Given the description of an element on the screen output the (x, y) to click on. 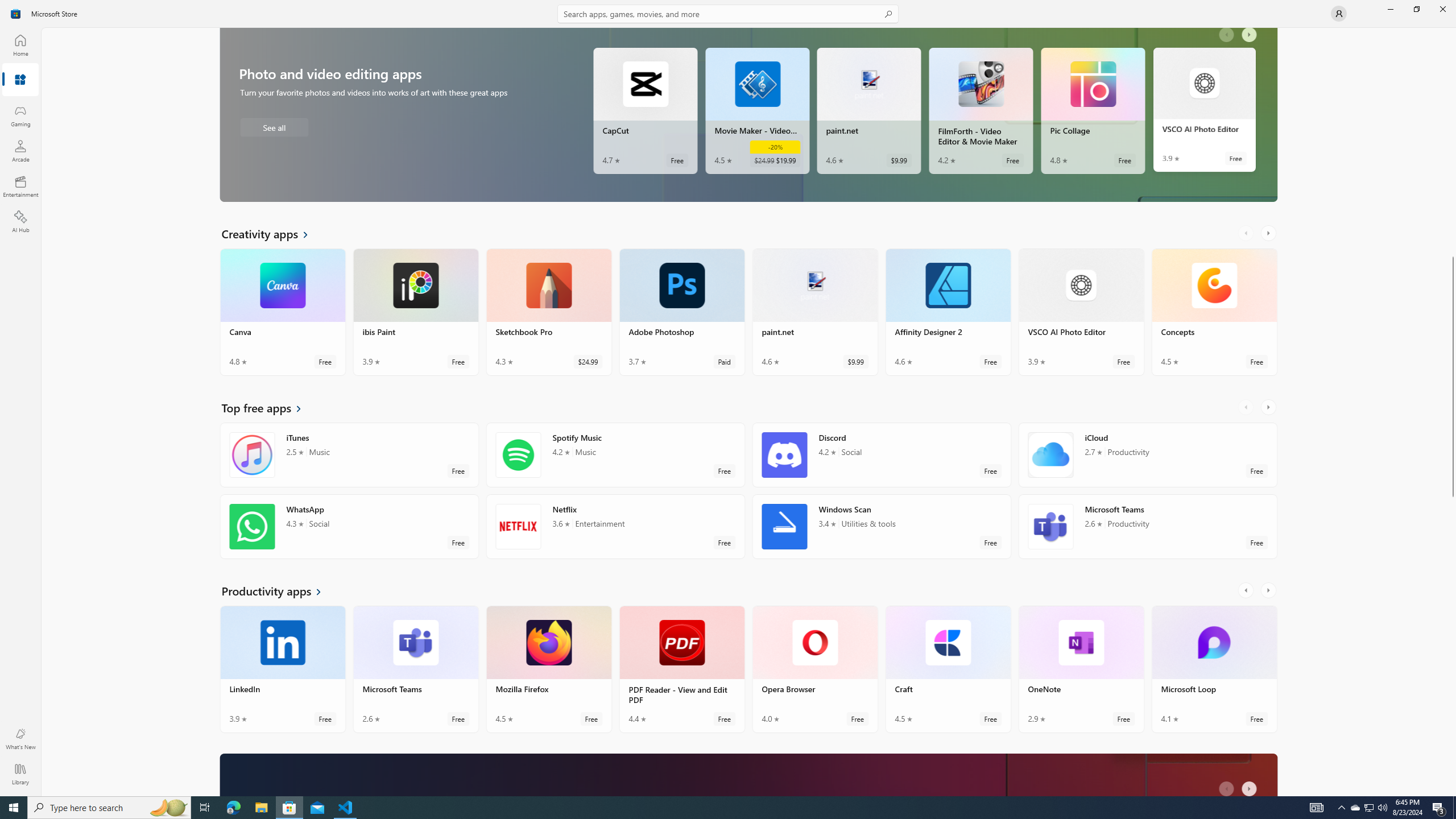
Close Microsoft Store (1442, 9)
Canva. Average rating of 4.8 out of five stars. Free   (282, 311)
Vertical Small Decrease (1452, 31)
CapCut. Average rating of 4.7 out of five stars. Free   (644, 110)
See all  Productivity apps (277, 590)
Library (20, 773)
Search (727, 13)
iTunes. Average rating of 2.5 out of five stars. Free   (349, 454)
User profile (1338, 13)
Netflix. Average rating of 3.6 out of five stars. Free   (615, 526)
Class: Image (15, 13)
See all  Photo and video editing apps (274, 126)
